Given the description of an element on the screen output the (x, y) to click on. 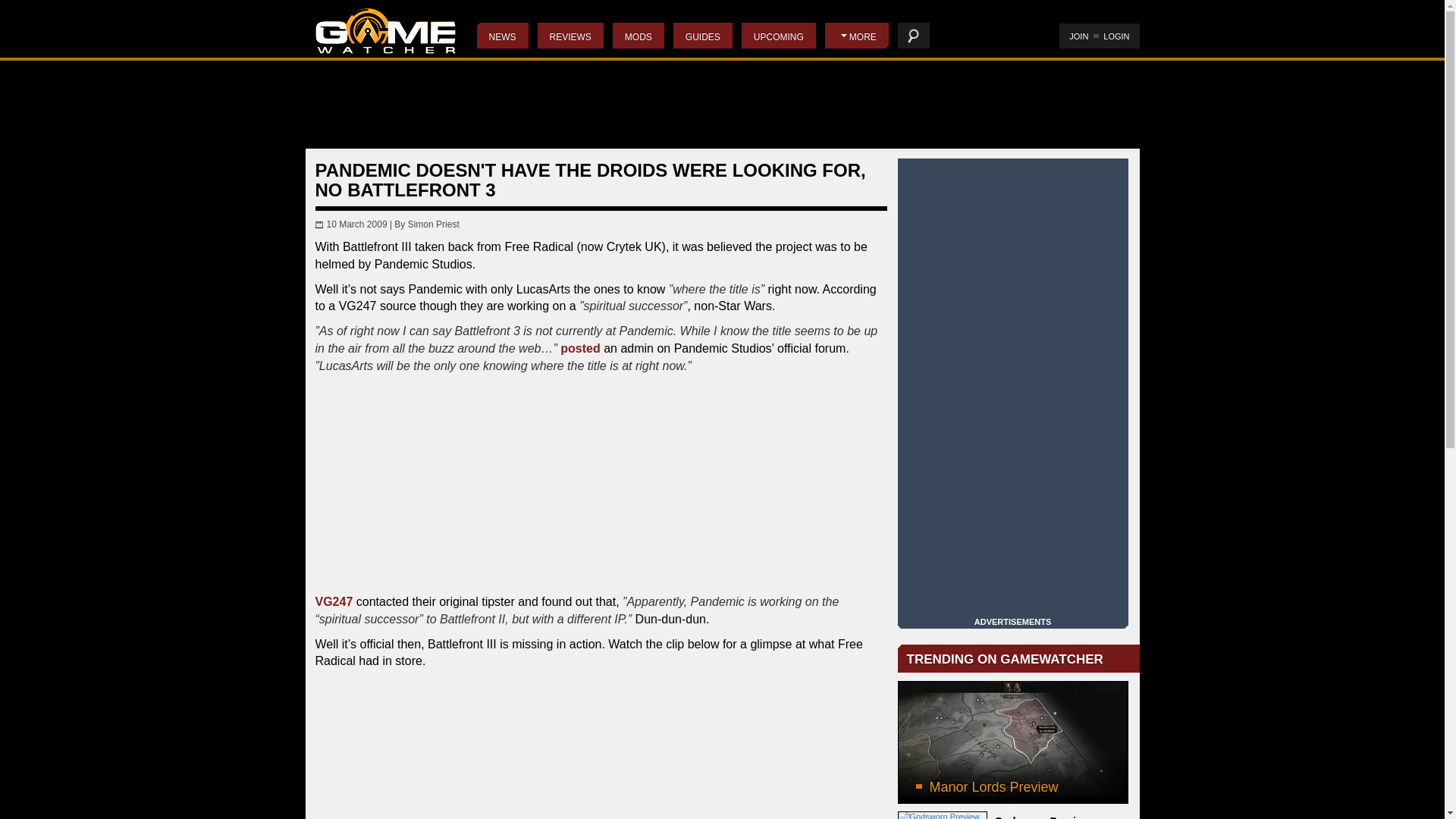
NEWS (501, 35)
GUIDES (702, 35)
MODS (637, 35)
LOGIN (1116, 36)
JOIN (1078, 36)
Simon Priest (433, 224)
VG247 (334, 601)
posted (579, 348)
REVIEWS (569, 35)
MORE (856, 35)
UPCOMING (778, 35)
Manor Lords Preview (1013, 741)
